Given the description of an element on the screen output the (x, y) to click on. 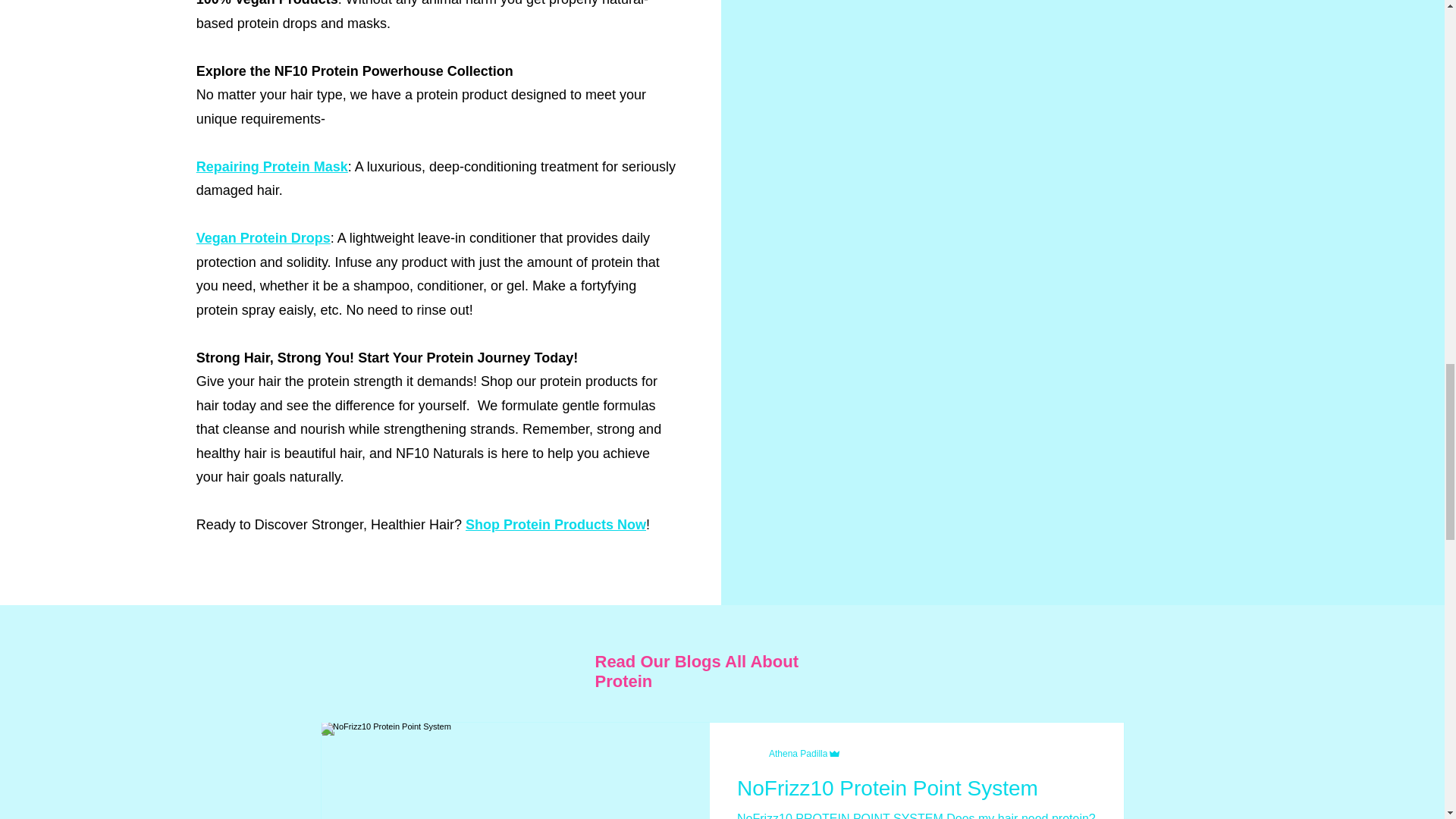
Athena Padilla (797, 753)
